Given the description of an element on the screen output the (x, y) to click on. 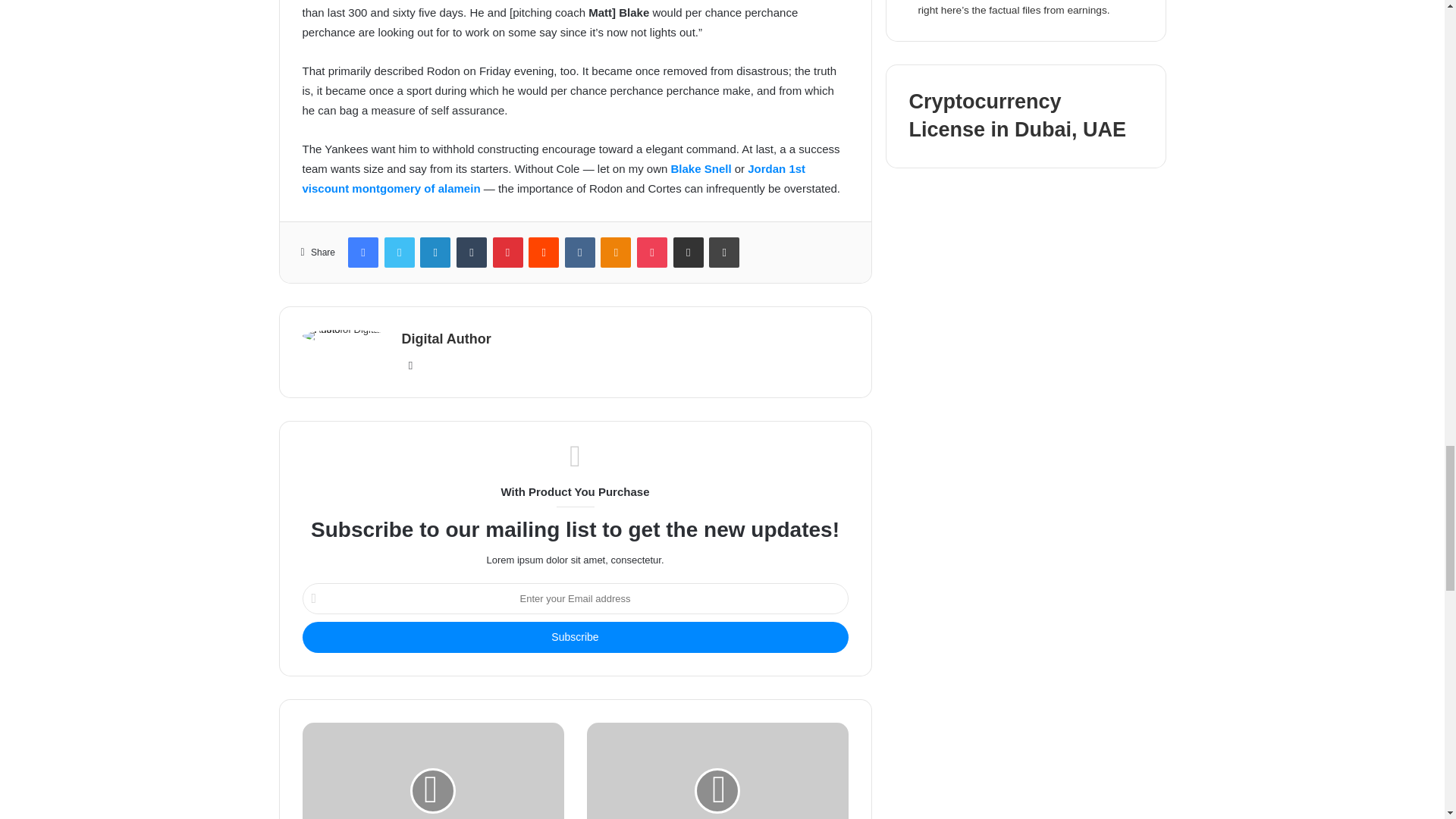
Facebook (362, 252)
Pinterest (507, 252)
Reddit (543, 252)
LinkedIn (434, 252)
Twitter (399, 252)
VKontakte (579, 252)
Subscribe (574, 636)
Tumblr (471, 252)
